Given the description of an element on the screen output the (x, y) to click on. 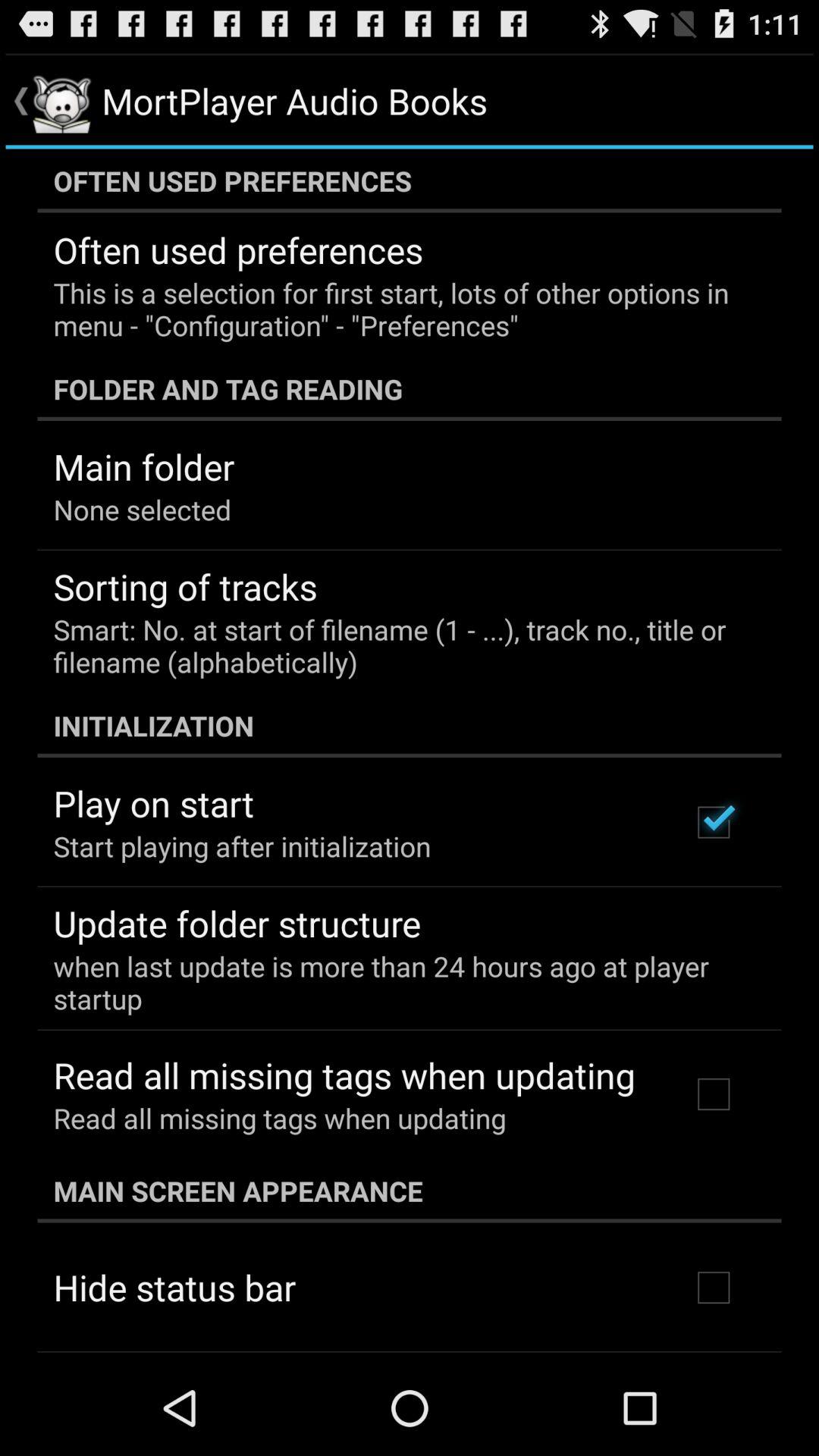
open the item above initialization (399, 645)
